Given the description of an element on the screen output the (x, y) to click on. 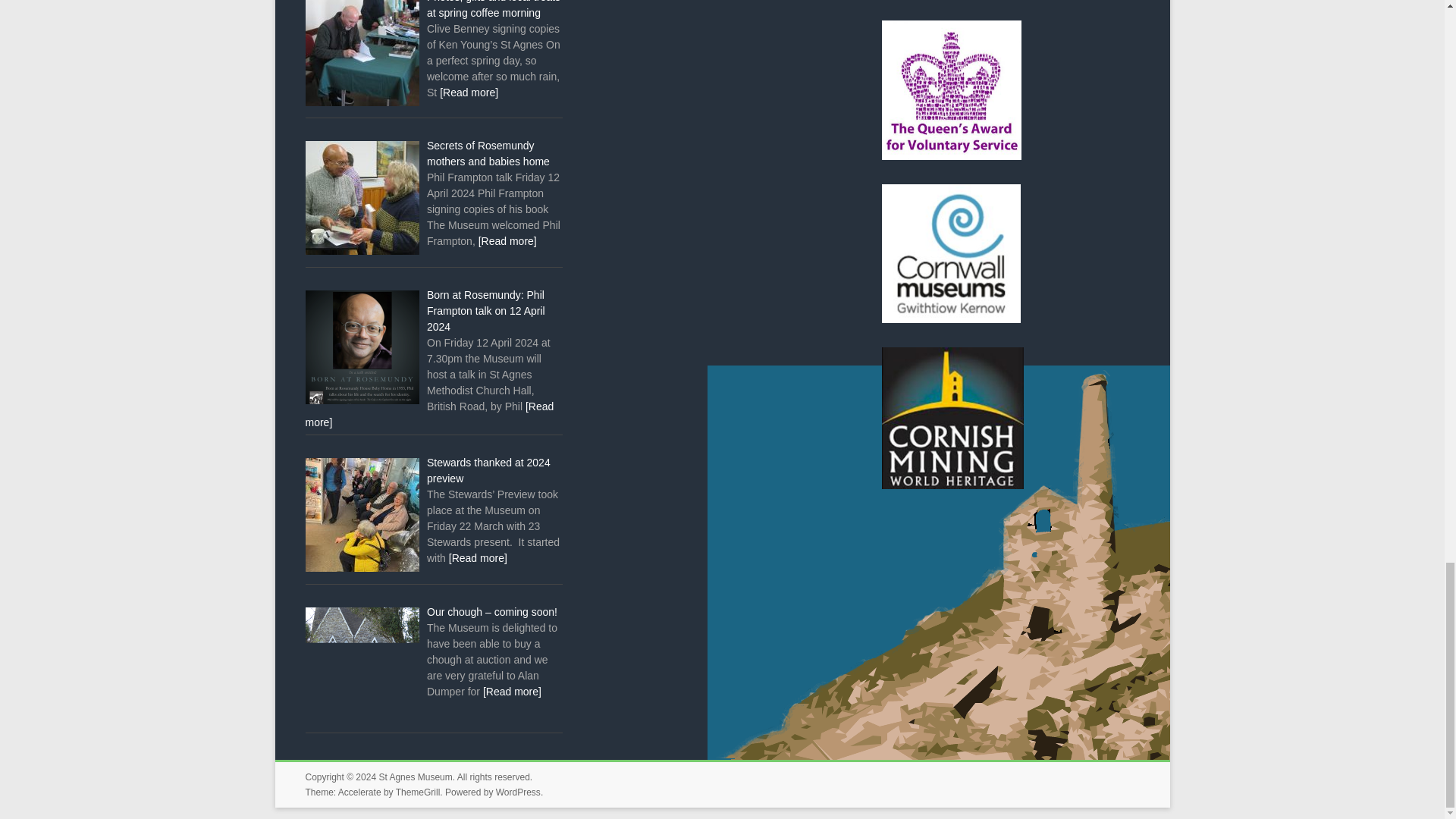
Photos, gifts and local treats at spring coffee morning (493, 9)
Born at Rosemundy: Phil Frampton talk on 12 April 2024 (485, 310)
St Agnes Museum (414, 777)
St Agnes Museum (414, 777)
Accelerate (359, 792)
Stewards thanked at 2024 preview (488, 470)
Accelerate (359, 792)
WordPress (518, 792)
Secrets of Rosemundy mothers and babies home (488, 153)
WordPress (518, 792)
